Given the description of an element on the screen output the (x, y) to click on. 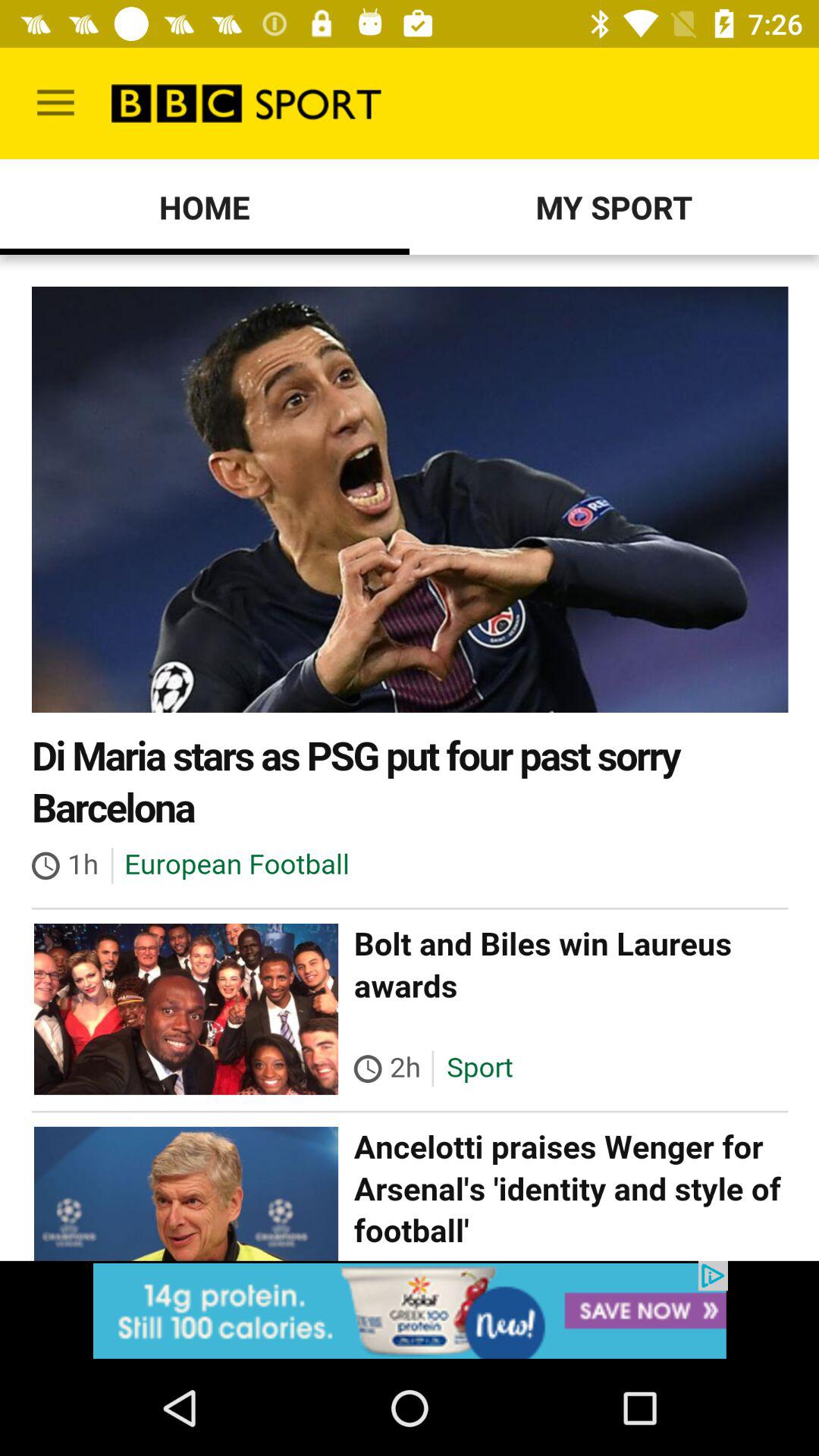
save box (409, 1310)
